Given the description of an element on the screen output the (x, y) to click on. 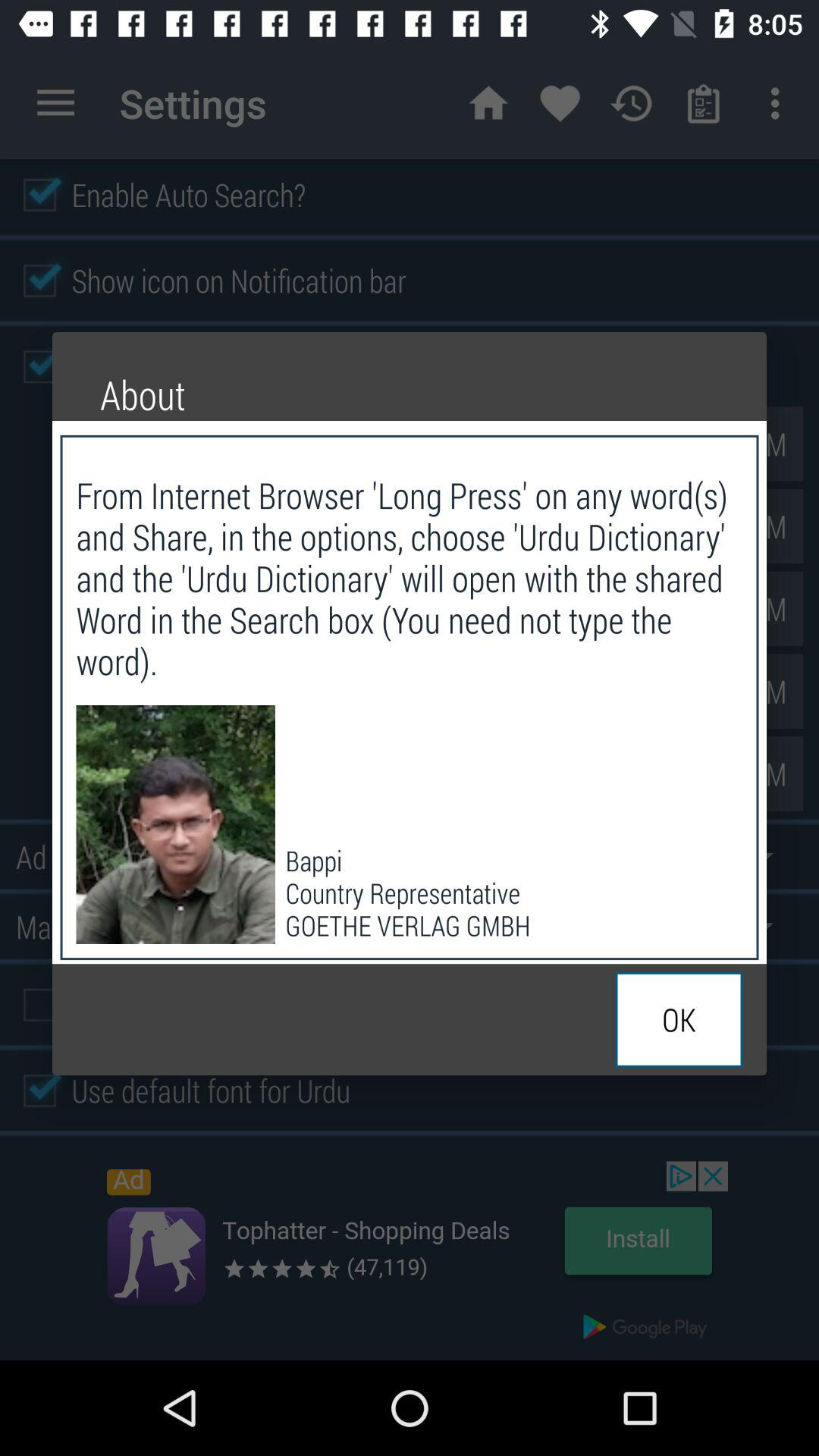
scroll to the ok item (678, 1019)
